Given the description of an element on the screen output the (x, y) to click on. 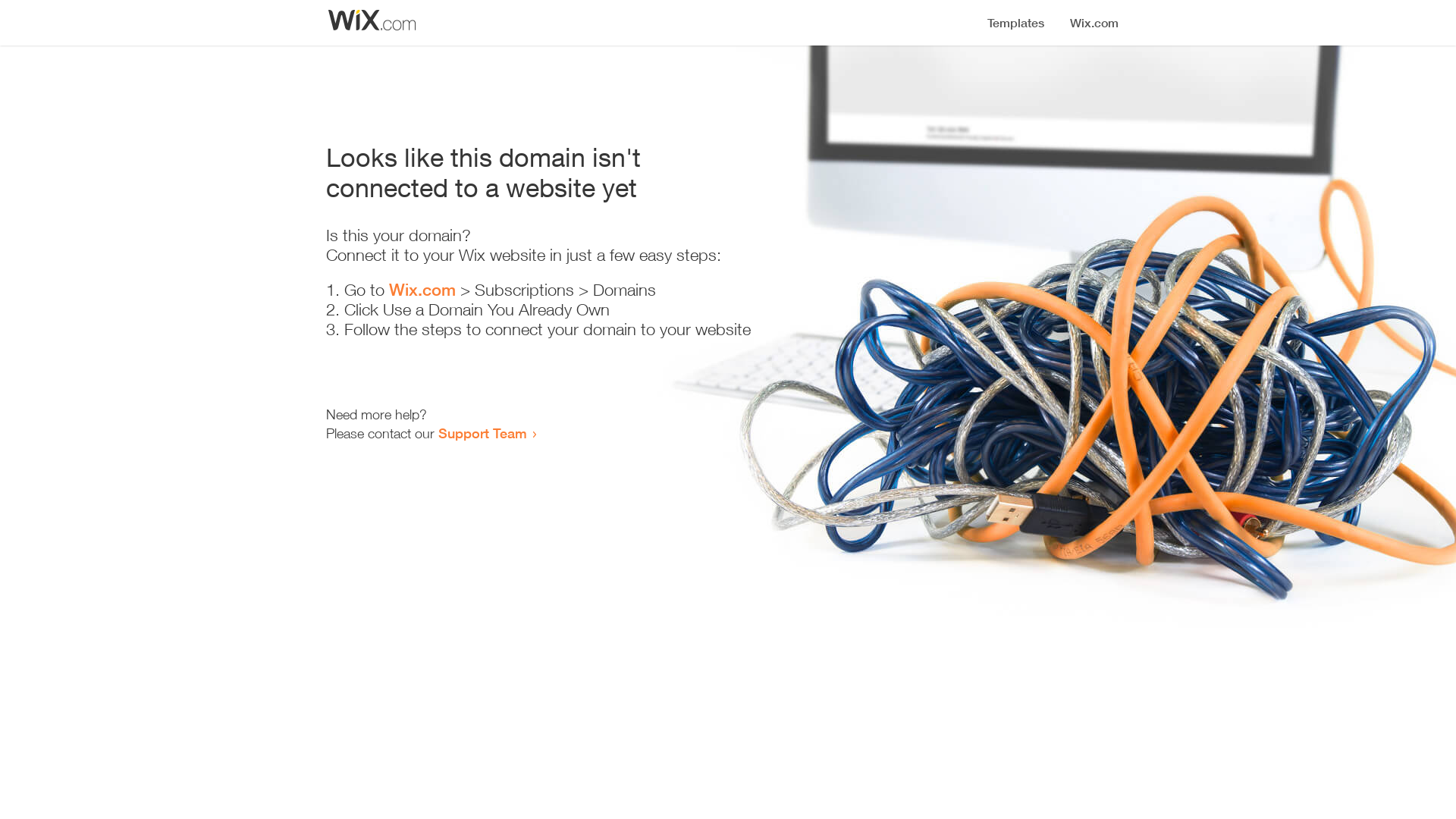
Wix.com Element type: text (422, 289)
Support Team Element type: text (482, 432)
